Given the description of an element on the screen output the (x, y) to click on. 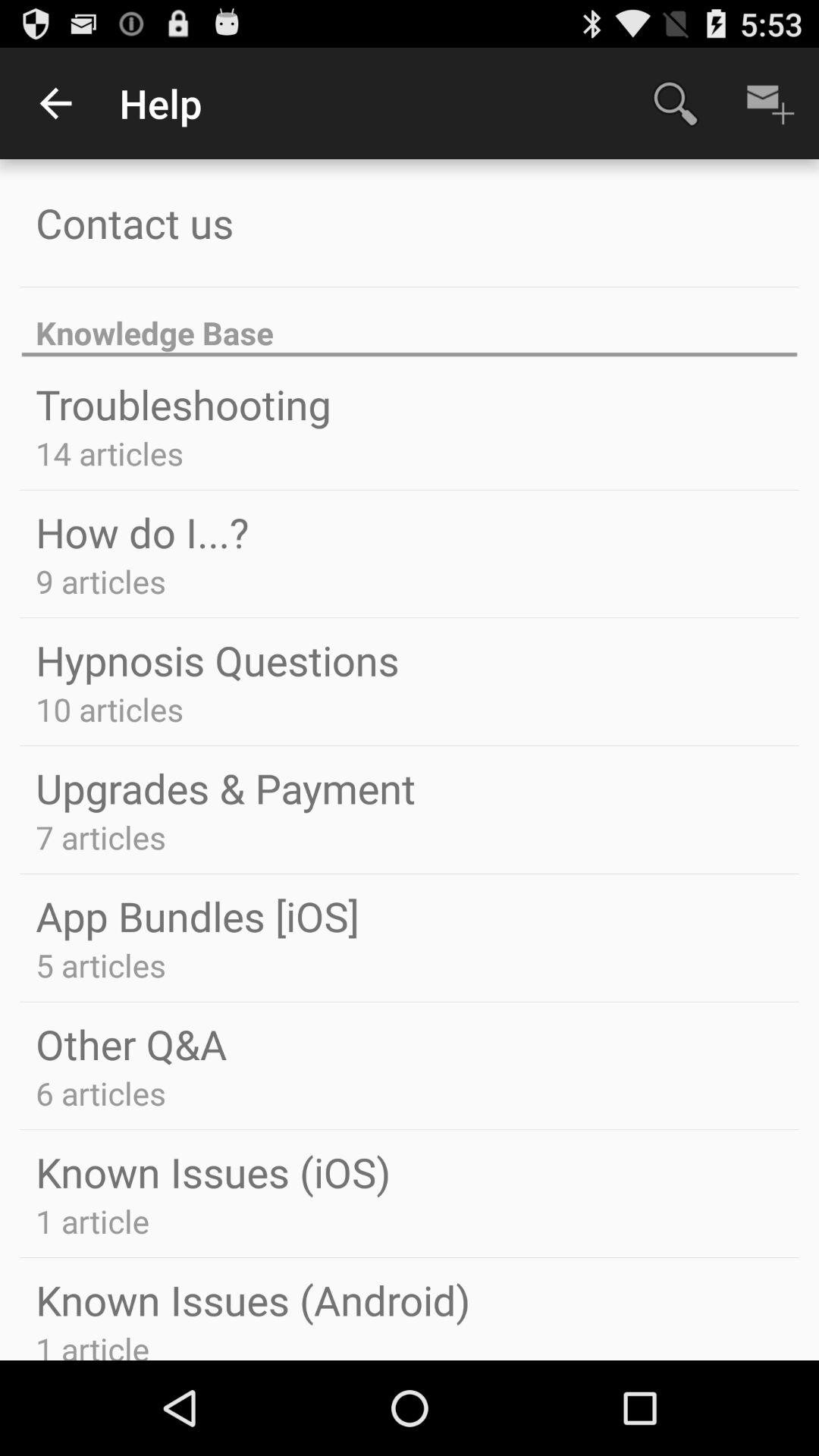
press icon below the upgrades & payment (100, 836)
